Given the description of an element on the screen output the (x, y) to click on. 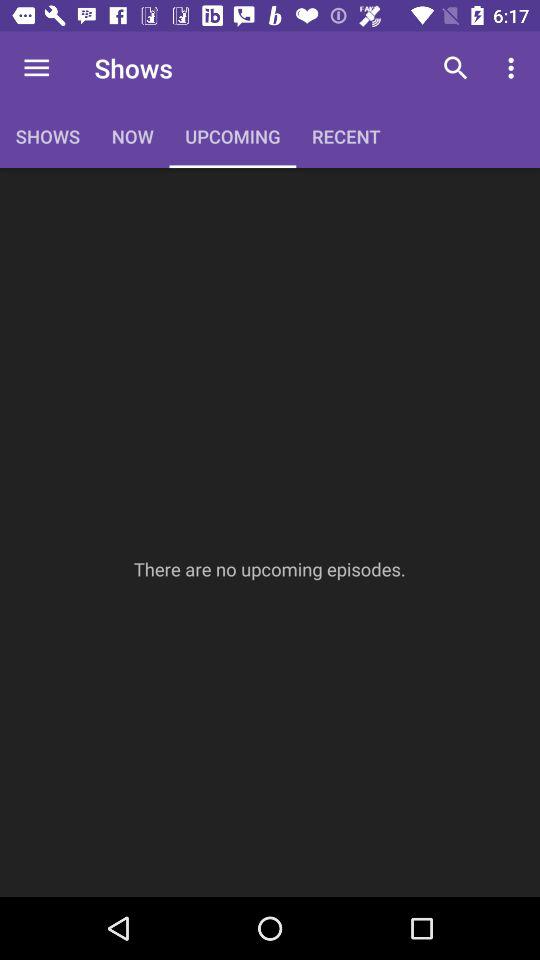
turn off item next to the recent item (455, 67)
